Given the description of an element on the screen output the (x, y) to click on. 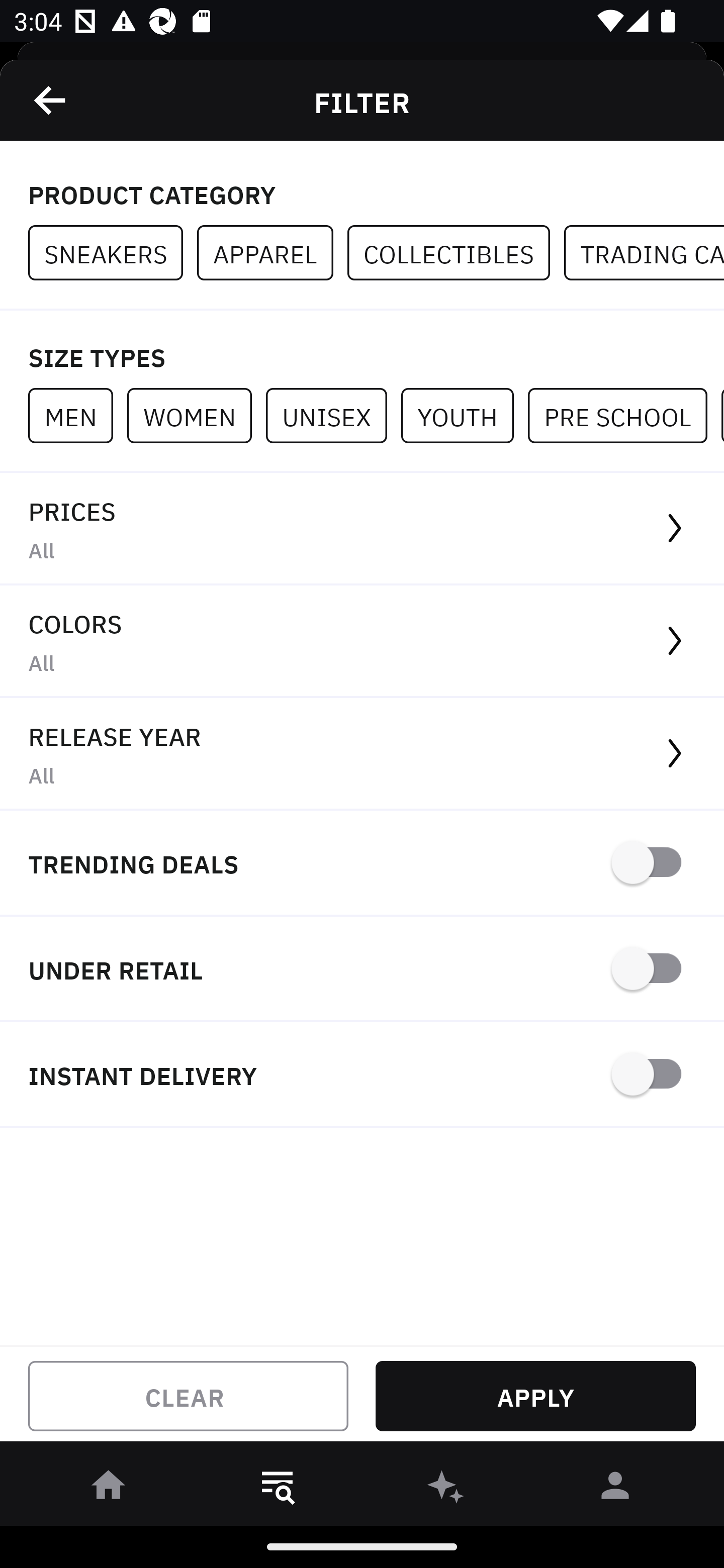
 (50, 100)
SNEAKERS (112, 252)
APPAREL (271, 252)
COLLECTIBLES (455, 252)
TRADING CARDS (643, 252)
MEN (77, 415)
WOMEN (196, 415)
UNISEX (333, 415)
YOUTH (464, 415)
PRE SCHOOL (624, 415)
PRICES All (362, 528)
COLORS All (362, 640)
RELEASE YEAR All (362, 753)
TRENDING DEALS (362, 863)
UNDER RETAIL (362, 969)
INSTANT DELIVERY (362, 1075)
CLEAR  (188, 1396)
APPLY (535, 1396)
󰋜 (108, 1488)
󱎸 (277, 1488)
󰫢 (446, 1488)
󰀄 (615, 1488)
